Given the description of an element on the screen output the (x, y) to click on. 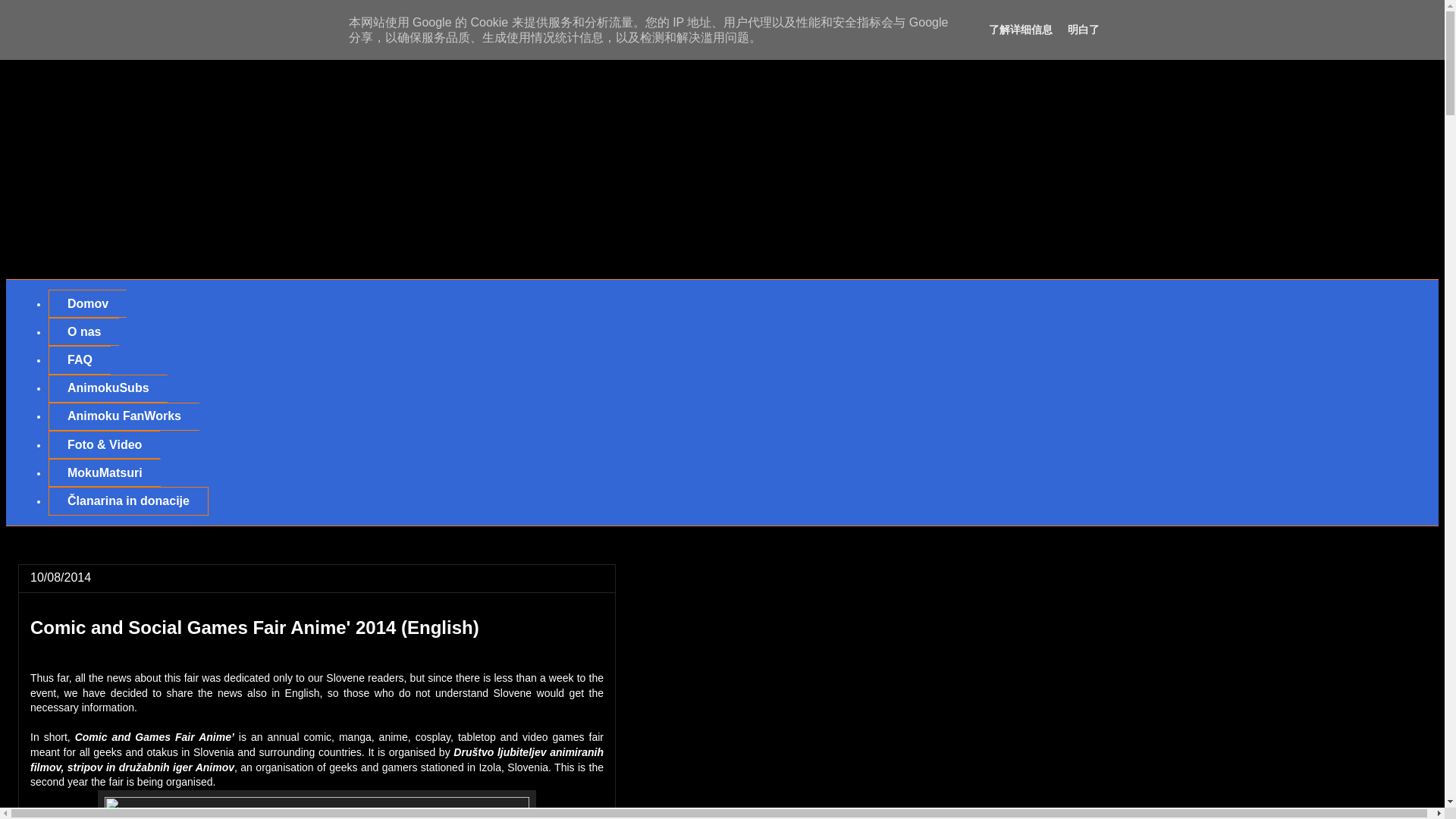
Domov (87, 303)
Animoku FanWorks (123, 416)
FAQ (79, 359)
MokuMatsuri (104, 472)
AnimokuSubs (107, 388)
O nas (83, 331)
